Given the description of an element on the screen output the (x, y) to click on. 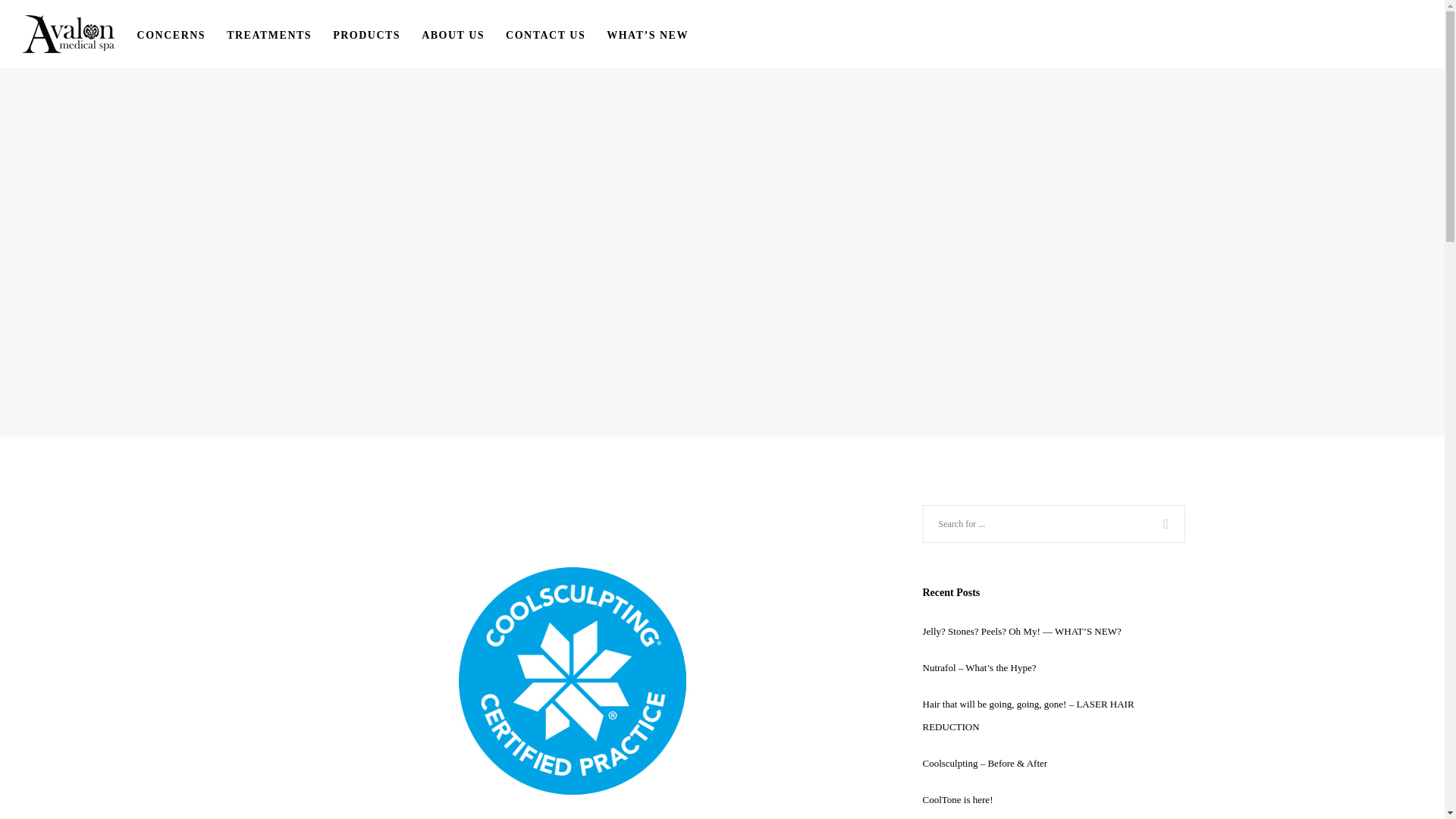
PRODUCTS (377, 33)
TREATMENTS (280, 33)
CONTACT US (556, 33)
CoolTone is here! (956, 799)
CONCERNS (181, 33)
ABOUT US (463, 33)
